Given the description of an element on the screen output the (x, y) to click on. 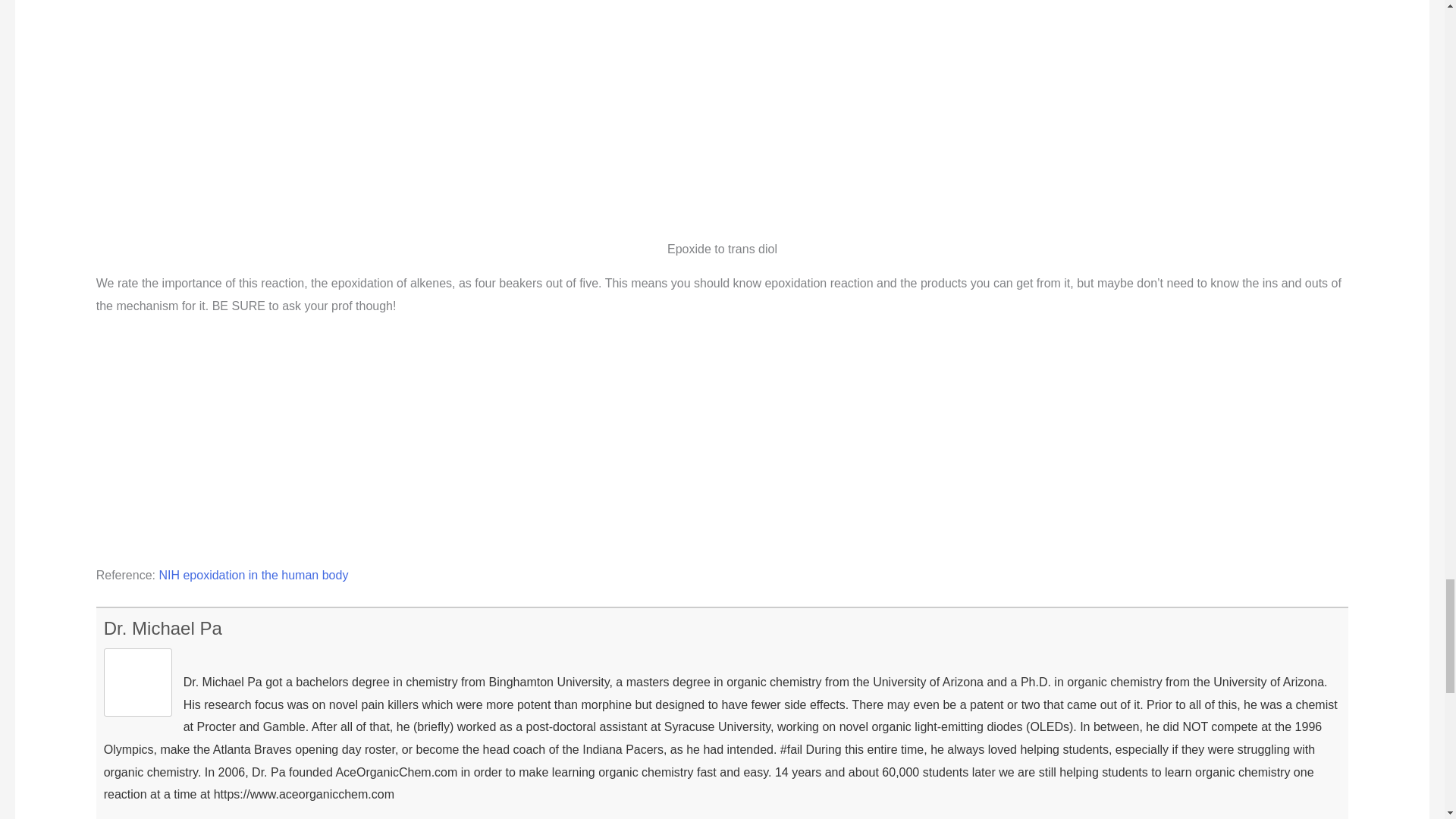
All posts by Dr. Michael Pa (162, 628)
NIH epoxidation in the human body (252, 574)
Dr. Michael Pa (162, 628)
